Given the description of an element on the screen output the (x, y) to click on. 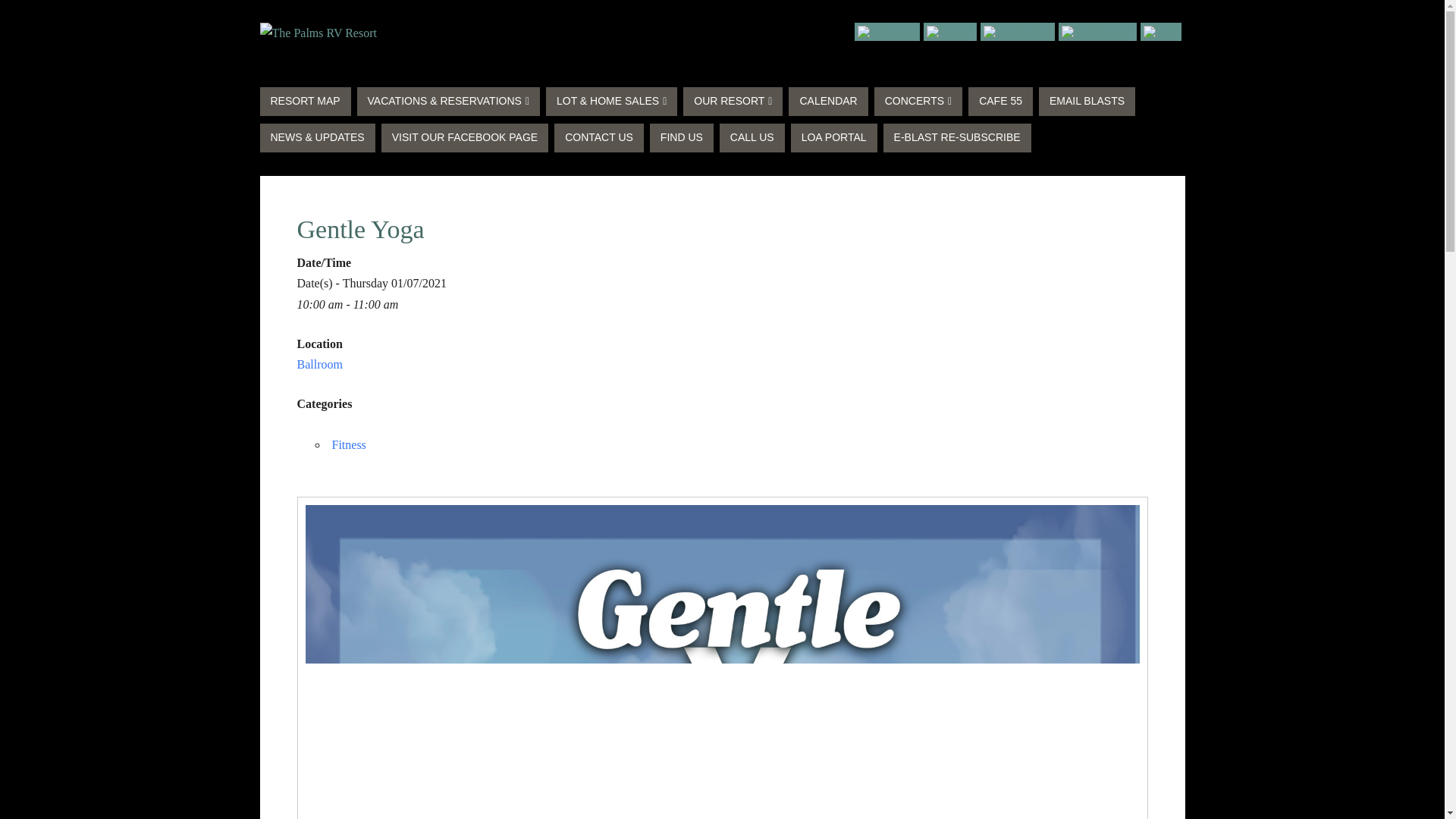
FIND US (886, 11)
TripAdvisor (1097, 31)
CONTACT US (685, 11)
CALENDAR (828, 101)
Twitter (949, 31)
HOME (623, 11)
RESORT MAP (304, 101)
3400 S AVENUE 7 E, YUMA, AZ 85365 (1010, 11)
LOA PORTAL (1145, 11)
The Palms RV Resort (317, 32)
OUR RESORT (732, 101)
GooglePlus (1017, 31)
Facebook (887, 31)
Yelp (1160, 31)
